Given the description of an element on the screen output the (x, y) to click on. 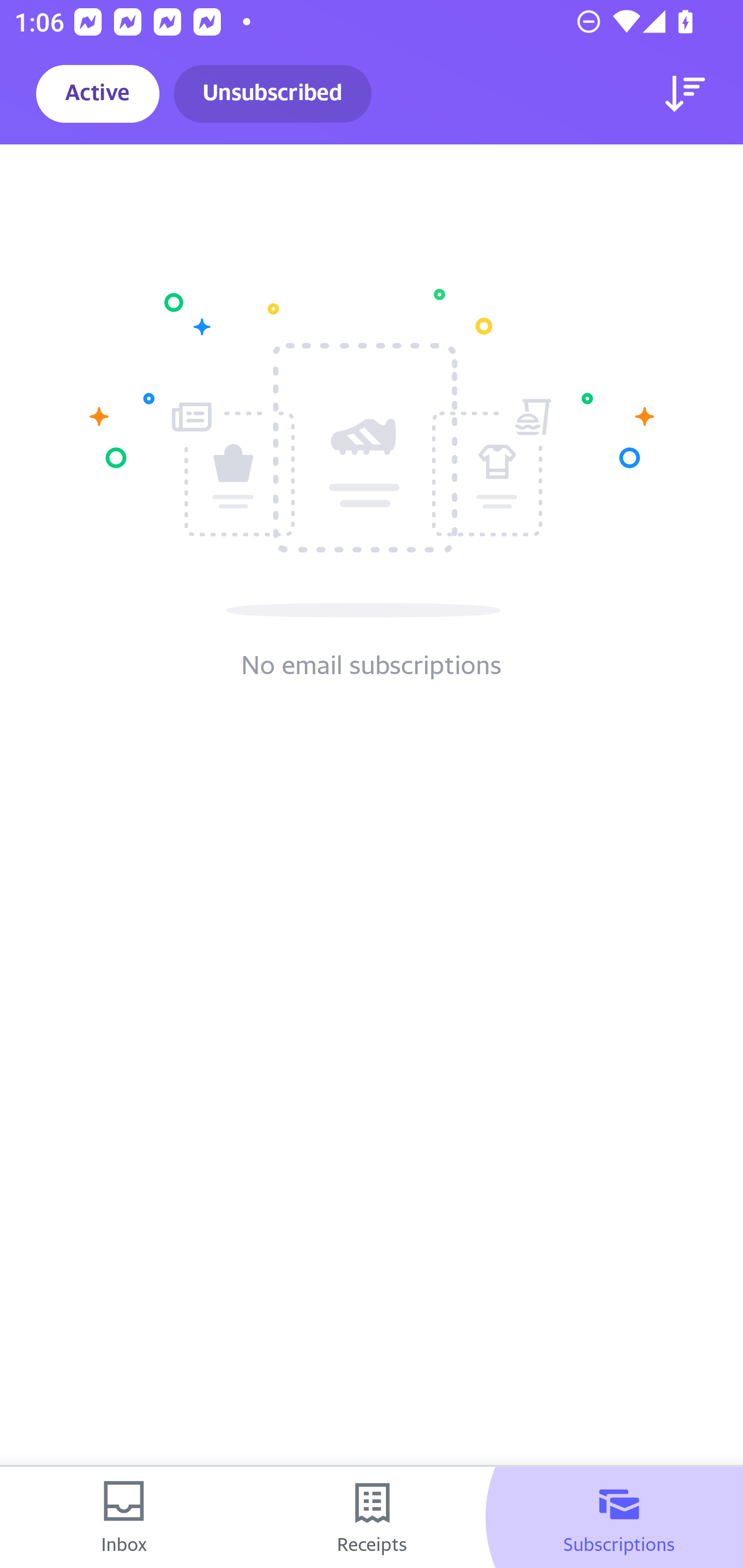
Unsubscribed (272, 93)
Sort (684, 93)
Inbox (123, 1517)
Receipts (371, 1517)
Subscriptions (619, 1517)
